Given the description of an element on the screen output the (x, y) to click on. 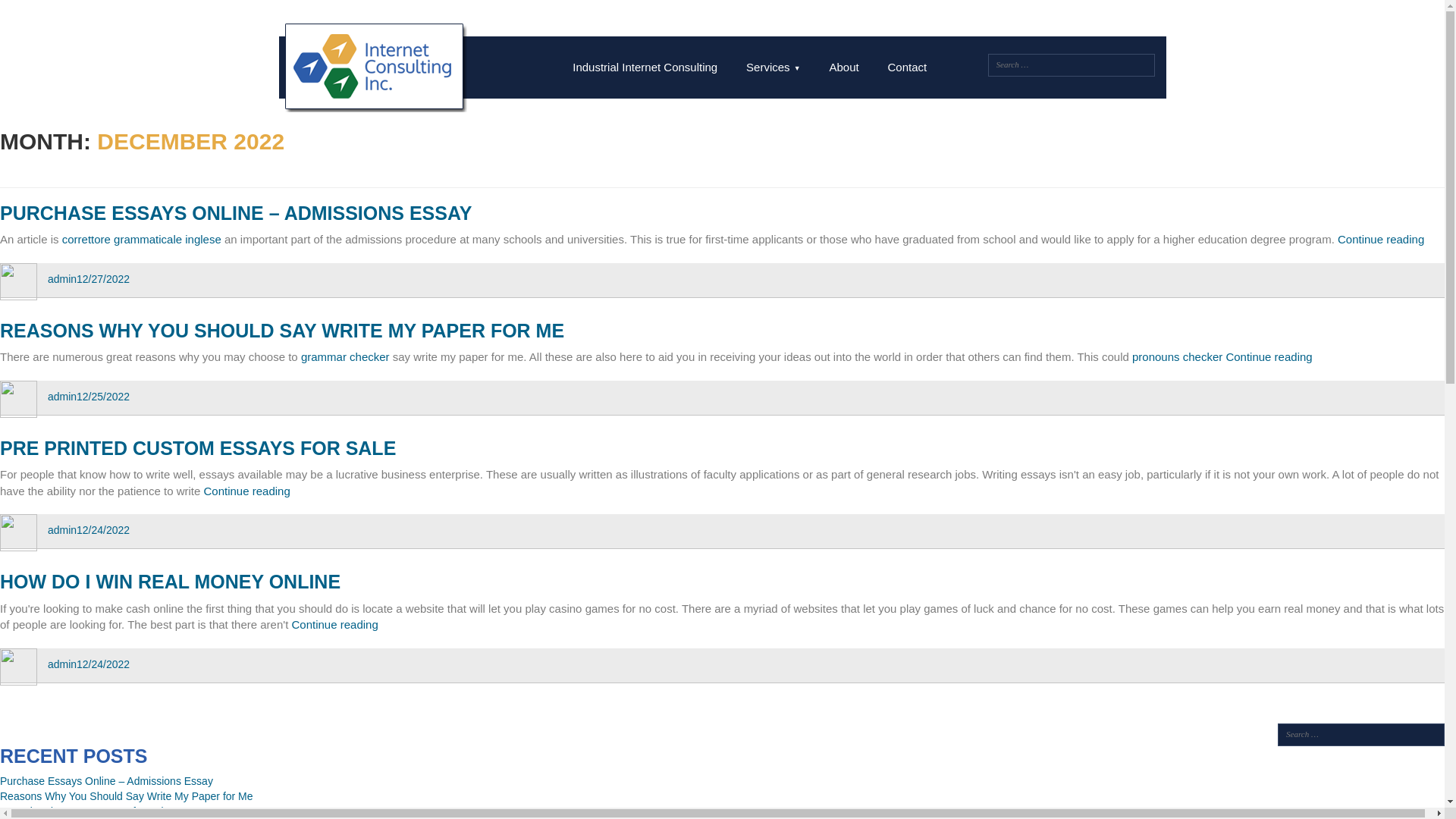
Contact (907, 66)
About (843, 66)
grammar checker (345, 356)
PRE PRINTED CUSTOM ESSAYS FOR SALE (198, 447)
admin (62, 664)
Industrial Internet Consulting (644, 66)
224-677-3222 T (900, 21)
Services (246, 490)
